Given the description of an element on the screen output the (x, y) to click on. 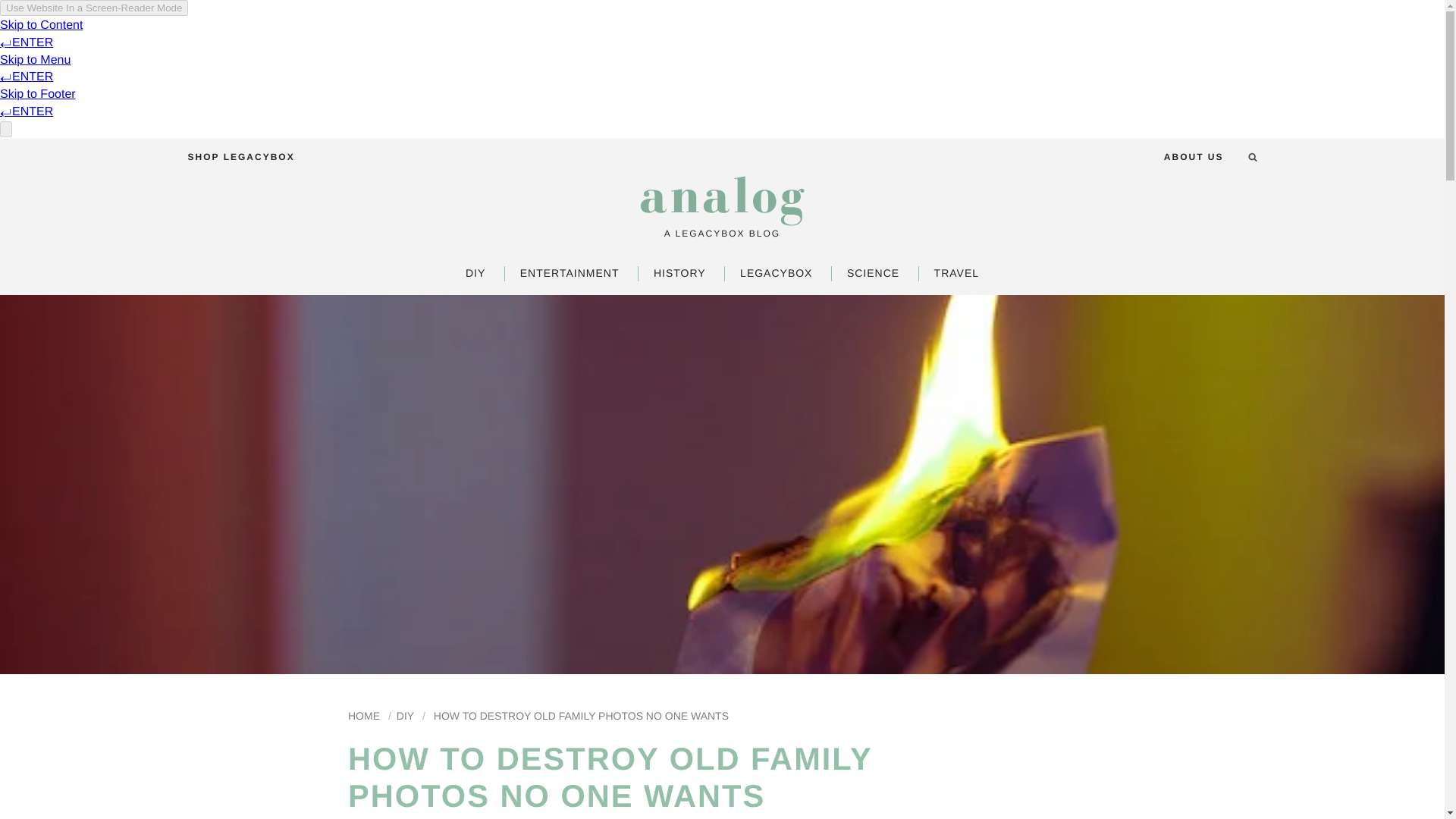
ABOUT US (1193, 156)
A LEGACYBOX BLOG (721, 233)
SHOP LEGACYBOX (241, 156)
Show articles tagged History (679, 272)
DIY (404, 715)
Show articles tagged DIY (474, 272)
Show articles tagged Travel (956, 272)
Show articles tagged Entertainment (569, 272)
Show articles tagged Legacybox (775, 272)
SCIENCE (873, 272)
Show articles tagged DIY (404, 715)
HOW TO DESTROY OLD FAMILY PHOTOS NO ONE WANTS (581, 715)
LEGACYBOX (775, 272)
DIY (474, 272)
Show articles tagged Science (873, 272)
